Given the description of an element on the screen output the (x, y) to click on. 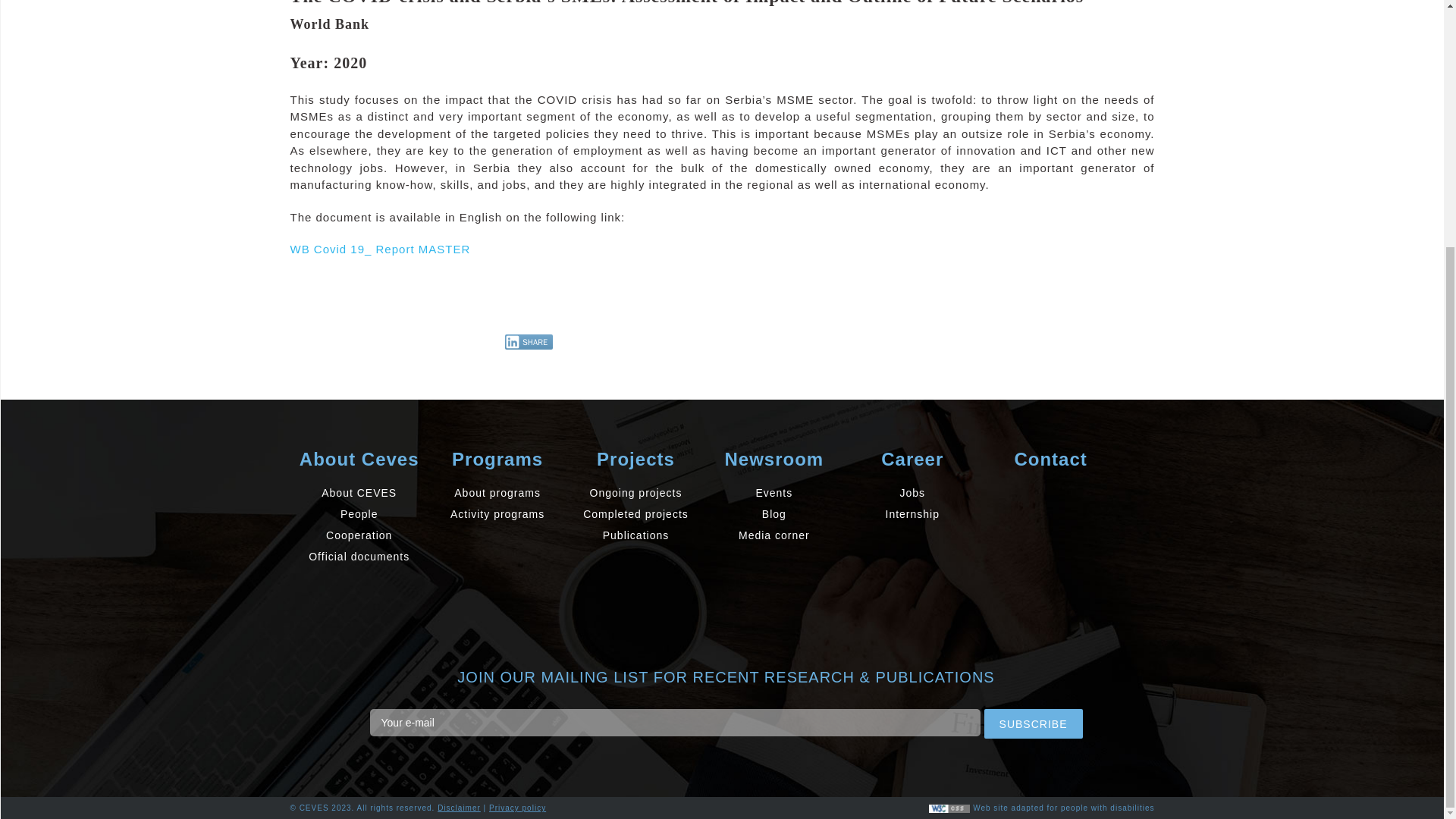
About Ceves (359, 459)
SHARE (529, 341)
Your e-mail (674, 722)
subscribe (1033, 723)
About CEVES (359, 492)
